Given the description of an element on the screen output the (x, y) to click on. 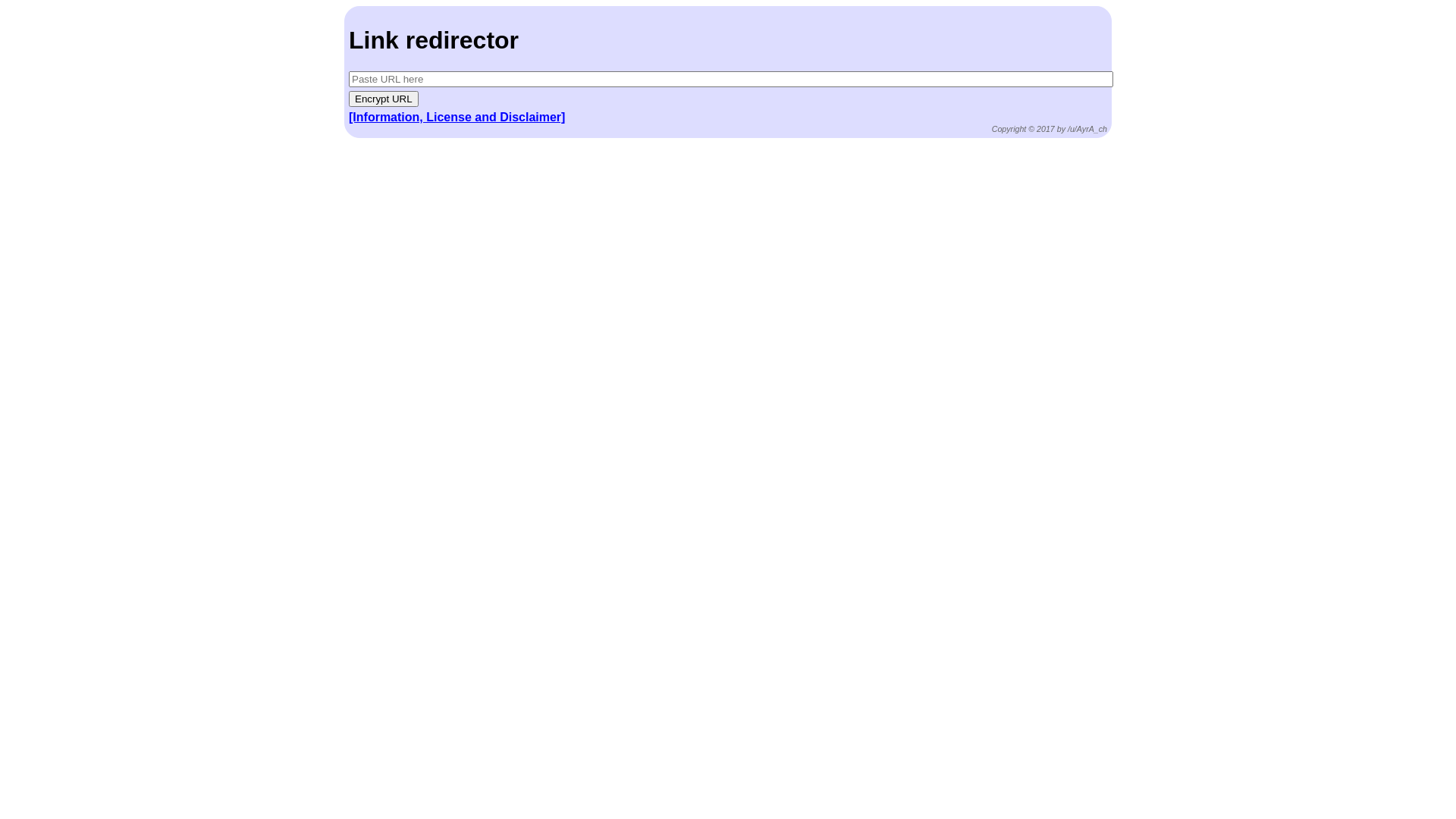
Encrypt URL Element type: text (383, 98)
[Information, License and Disclaimer] Element type: text (456, 116)
